Given the description of an element on the screen output the (x, y) to click on. 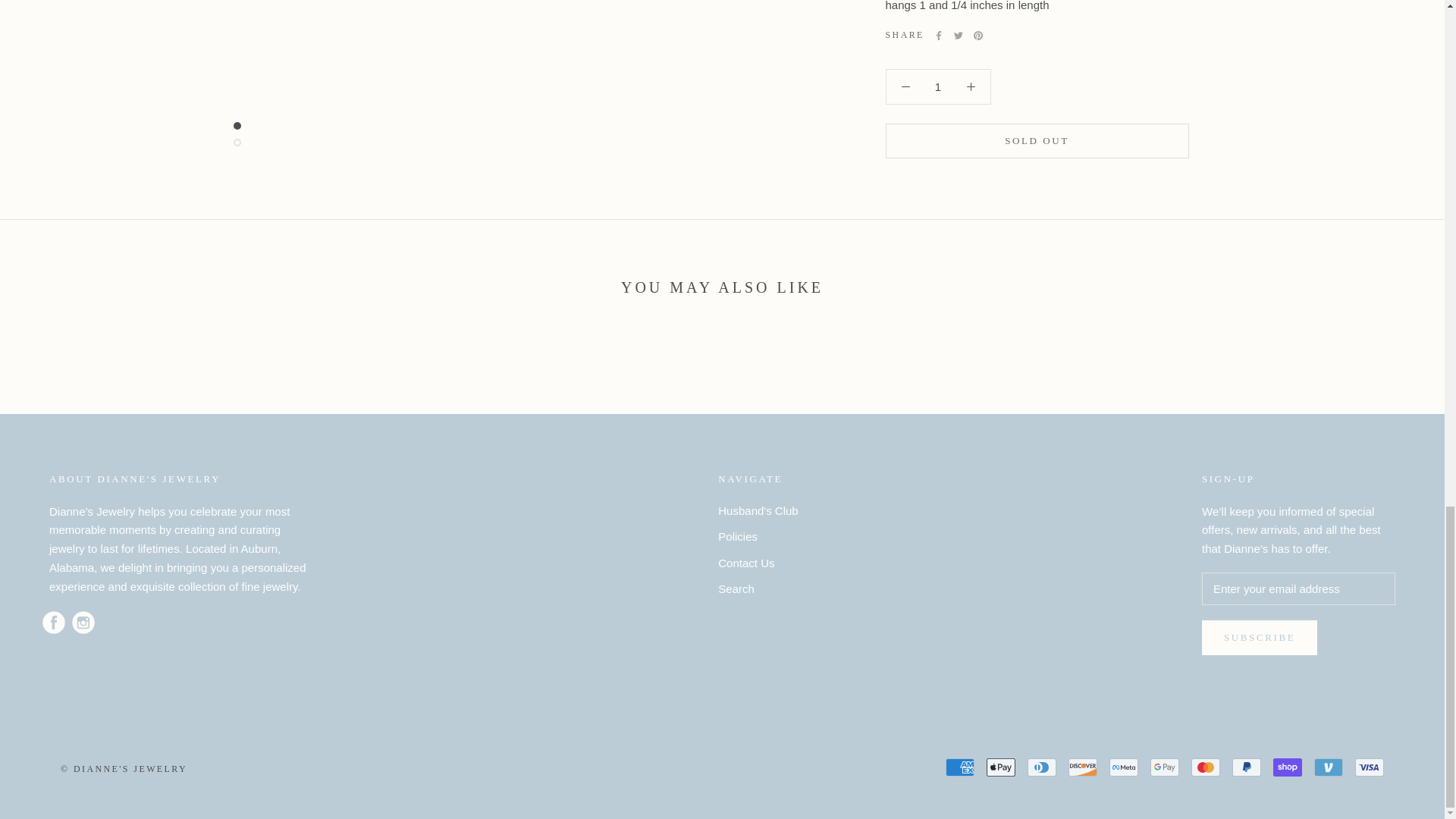
Meta Pay (1123, 767)
Discover (1082, 767)
Mastercard (1205, 767)
Diners Club (1042, 767)
Venmo (1328, 767)
Google Pay (1164, 767)
Visa (1369, 767)
PayPal (1245, 767)
Shop Pay (1286, 767)
American Express (959, 767)
